Given the description of an element on the screen output the (x, y) to click on. 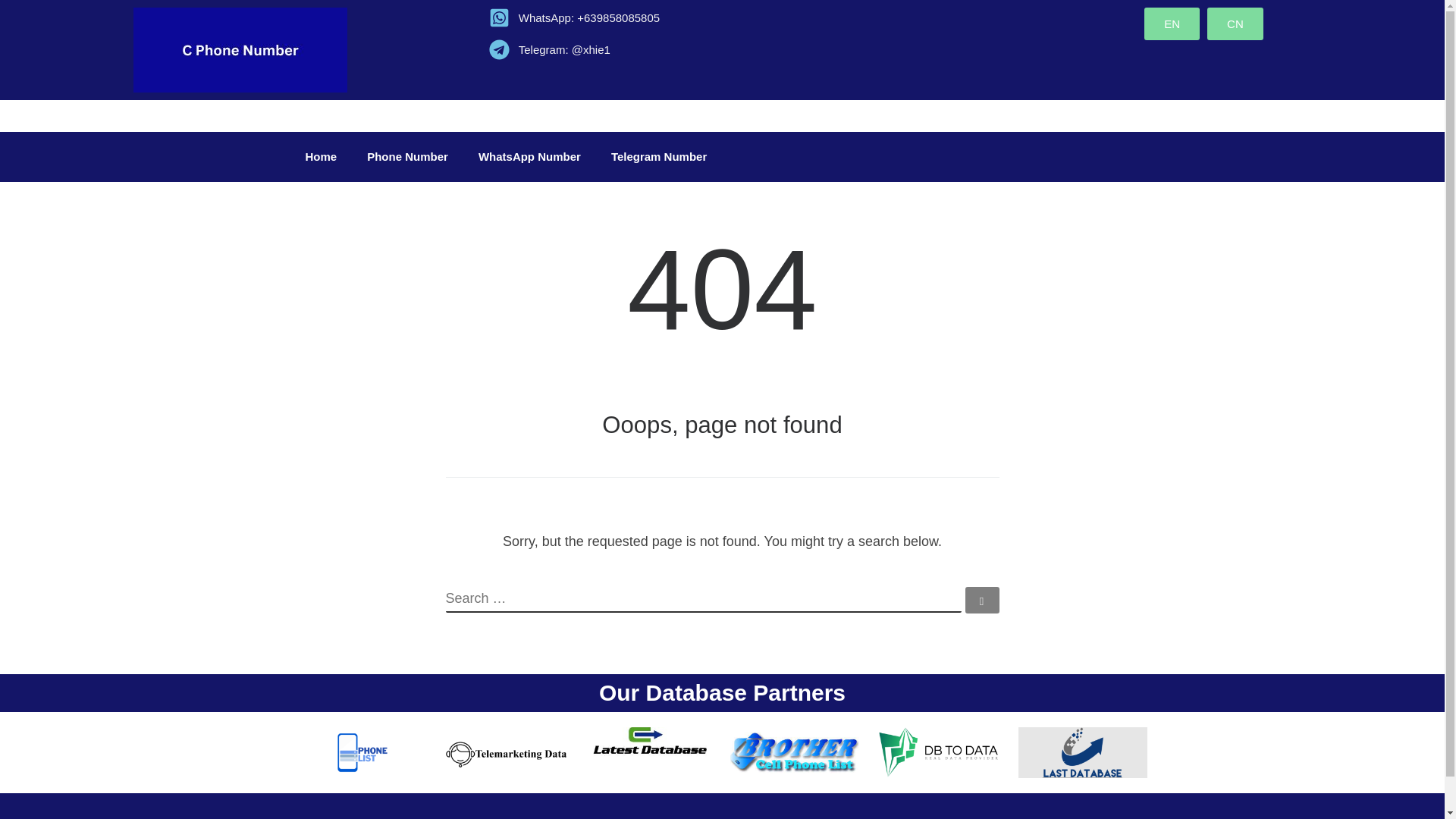
CN (1235, 23)
WhatsApp Number (529, 156)
C Phone Number (411, 818)
Telegram Number (658, 156)
Home (320, 156)
Phone Number (407, 156)
EN (1171, 23)
